Given the description of an element on the screen output the (x, y) to click on. 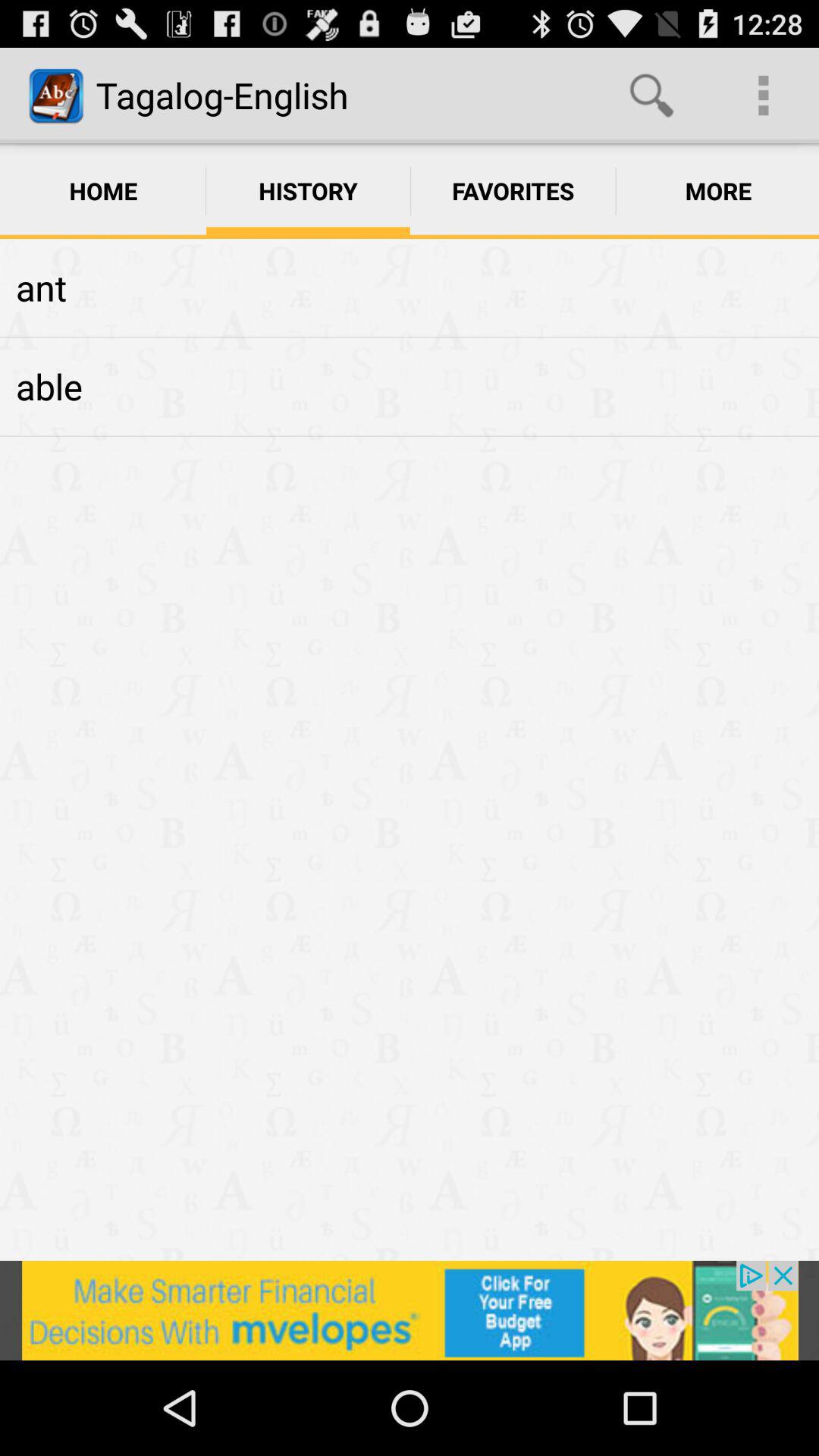
select the addvertisement (409, 1310)
